Given the description of an element on the screen output the (x, y) to click on. 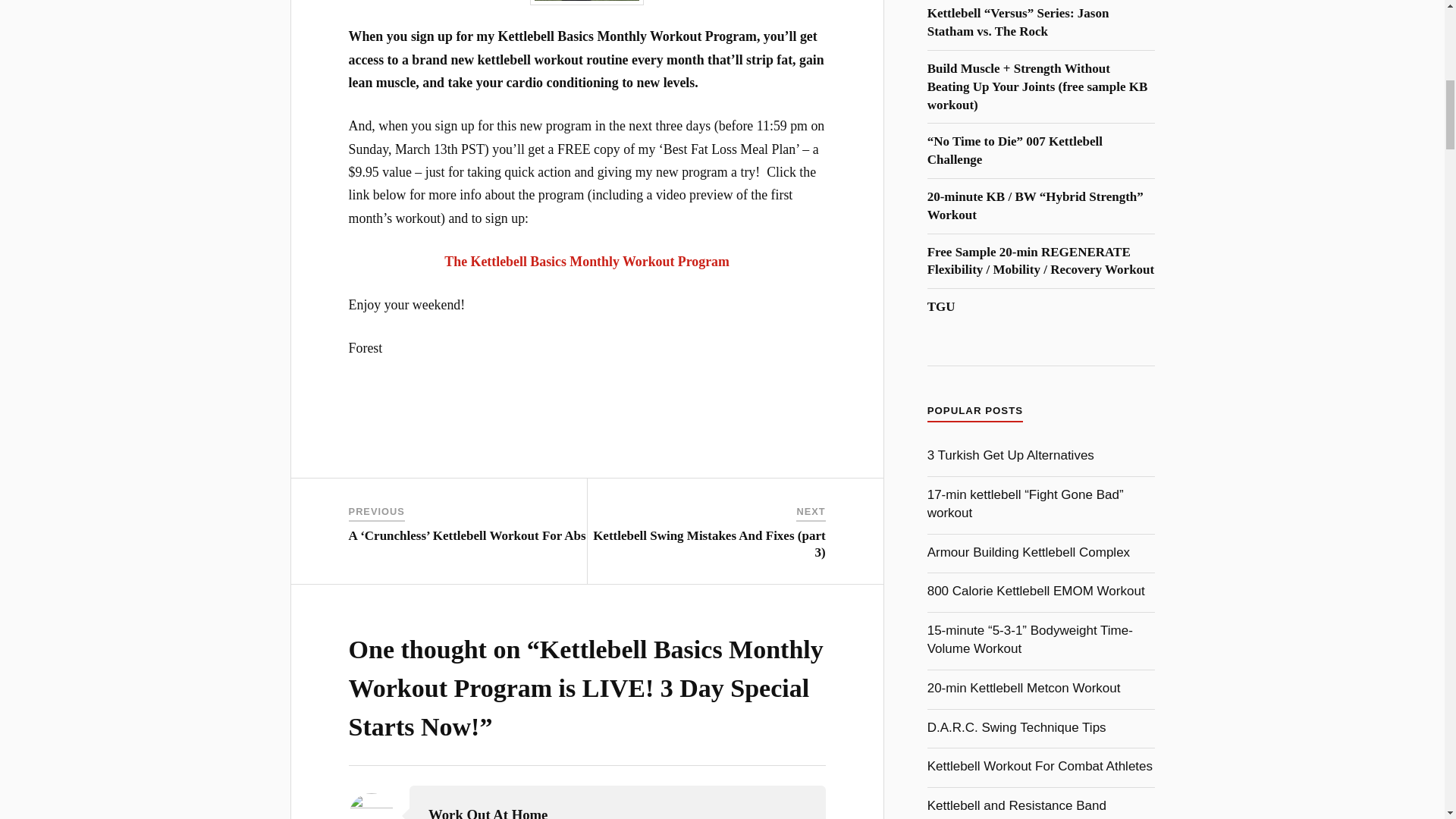
800 Calorie Kettlebell EMOM Workout (1035, 590)
3 Turkish Get Up Alternatives (1010, 454)
D.A.R.C. Swing Technique Tips (1016, 727)
Armour Building Kettlebell Complex (1028, 552)
800 Calorie Kettlebell EMOM Workout (1035, 590)
3 Turkish Get Up Alternatives (1010, 454)
20-min Kettlebell Metcon Workout (1024, 687)
Armour Building Kettlebell Complex (1028, 552)
Kettlebell Workout For Combat Athletes (1040, 766)
TGU (941, 307)
